Given the description of an element on the screen output the (x, y) to click on. 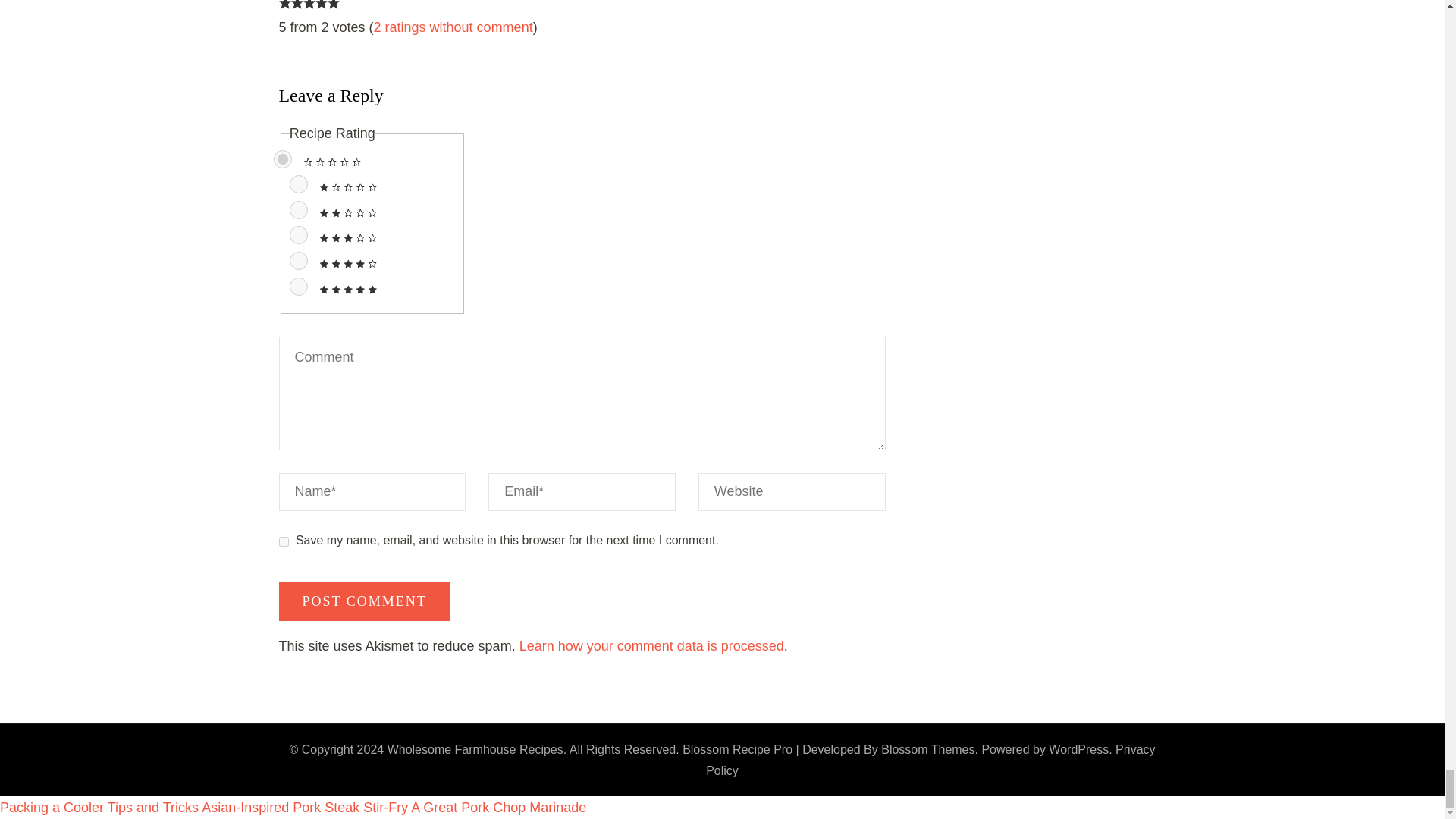
1 (298, 184)
2 (298, 209)
Post Comment (364, 600)
3 (298, 235)
5 (298, 286)
yes (283, 542)
4 (298, 260)
0 (282, 158)
